Given the description of an element on the screen output the (x, y) to click on. 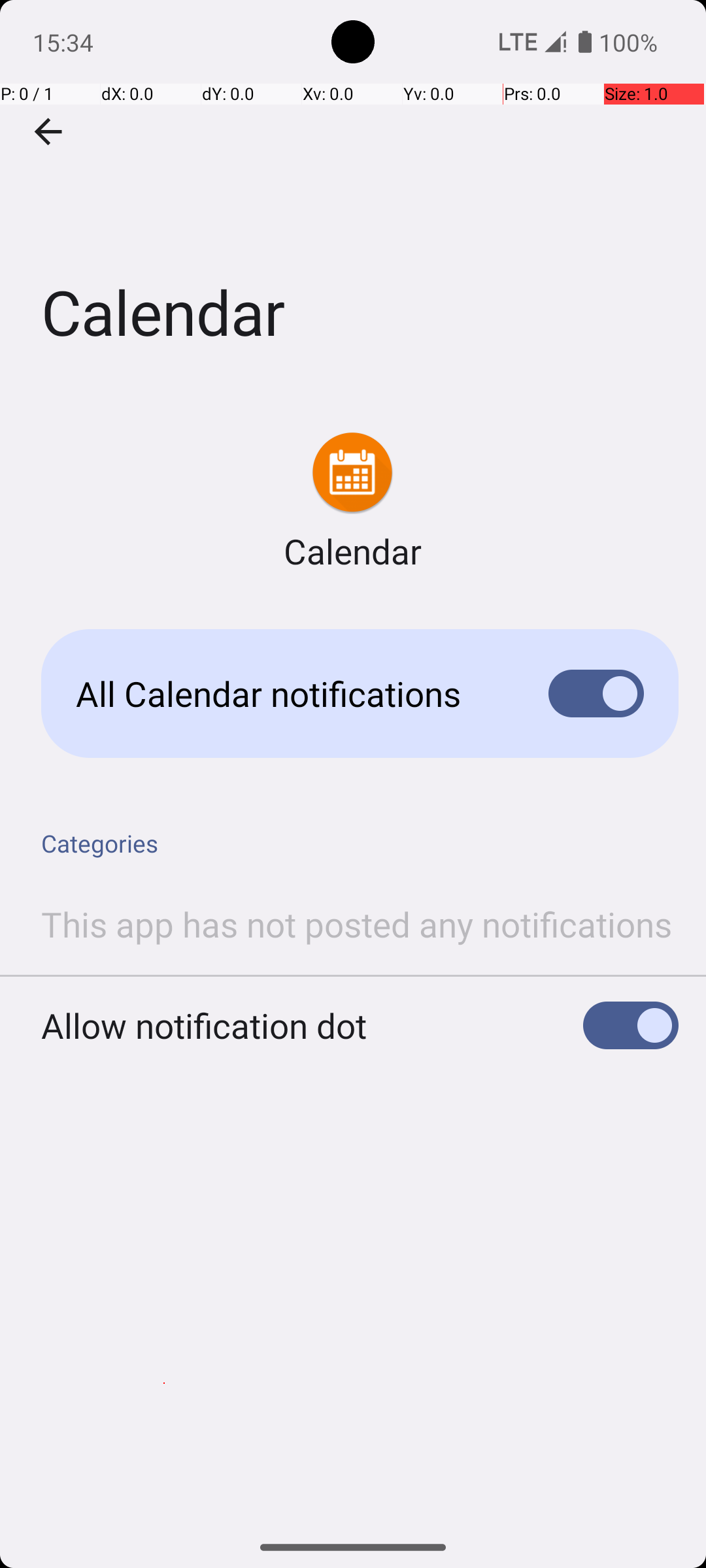
All Calendar notifications Element type: android.widget.TextView (291, 693)
This app has not posted any notifications Element type: android.widget.TextView (356, 923)
Allow notification dot Element type: android.widget.TextView (203, 1025)
